Given the description of an element on the screen output the (x, y) to click on. 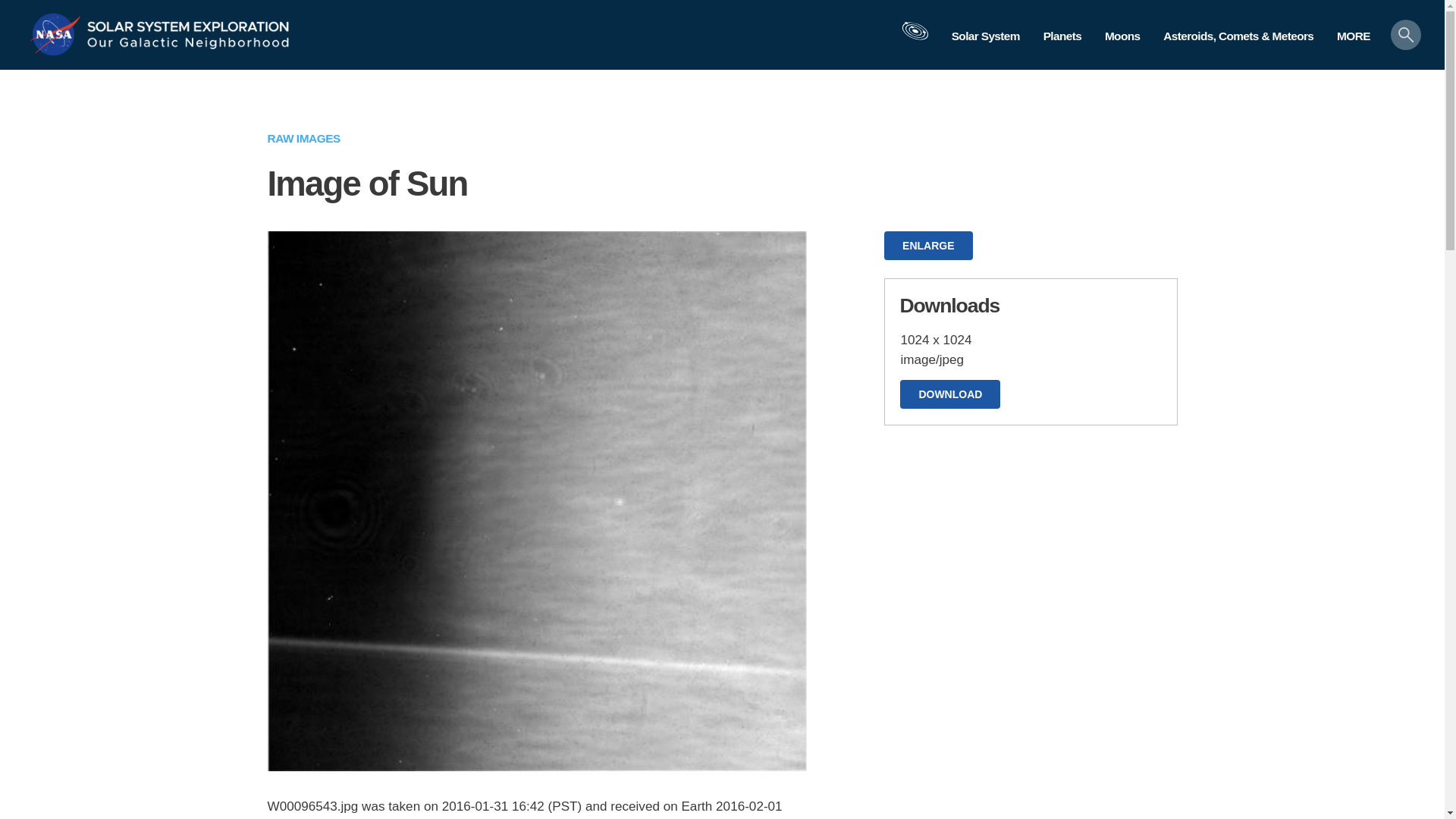
Home (57, 33)
Solar System Exploration (188, 22)
NASA (57, 33)
Our Galactic Neighborhood (188, 45)
Planets (1061, 35)
Home (188, 22)
Home (188, 45)
Solar System (984, 35)
